Given the description of an element on the screen output the (x, y) to click on. 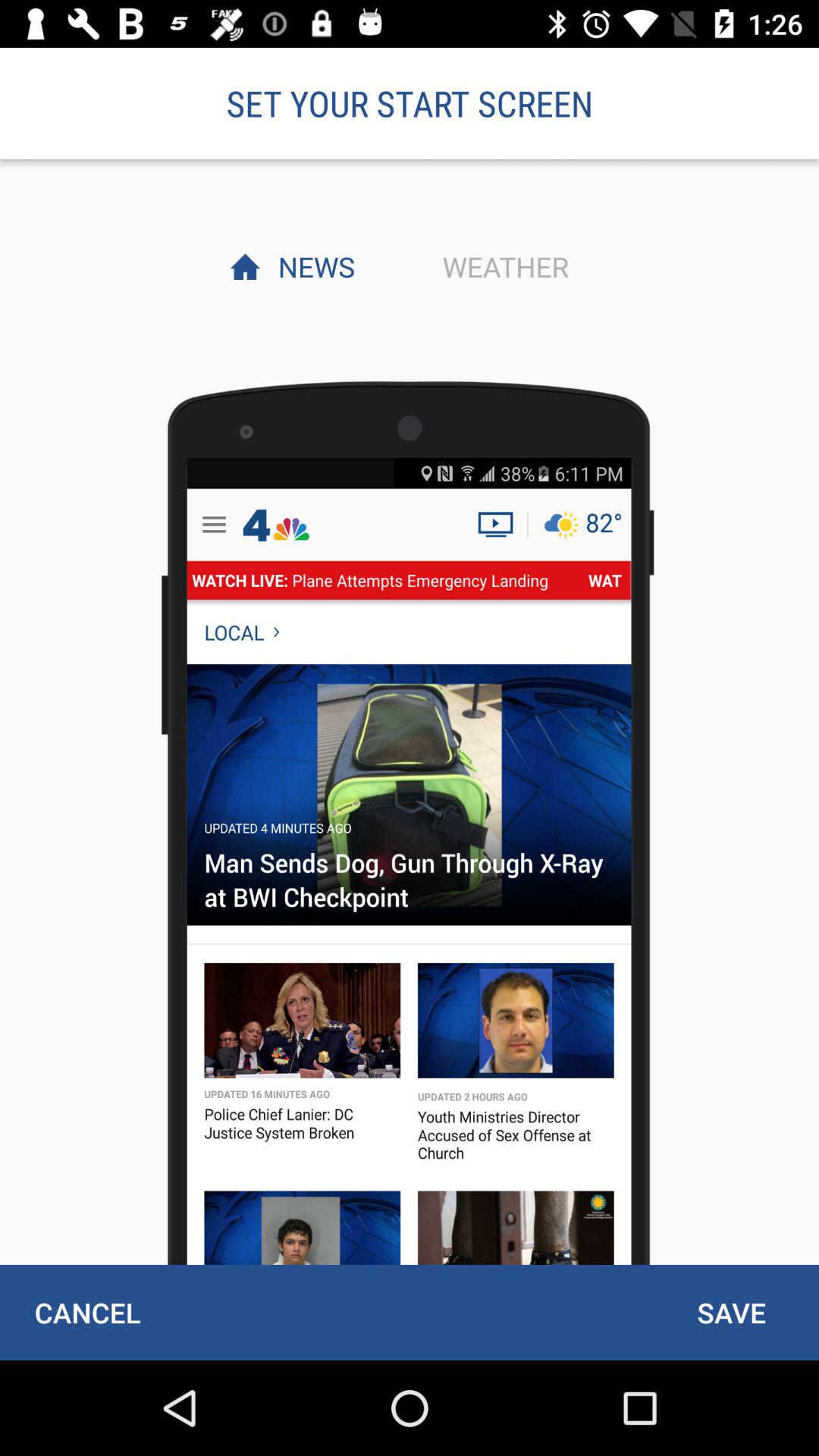
tap icon to the right of news icon (501, 266)
